Given the description of an element on the screen output the (x, y) to click on. 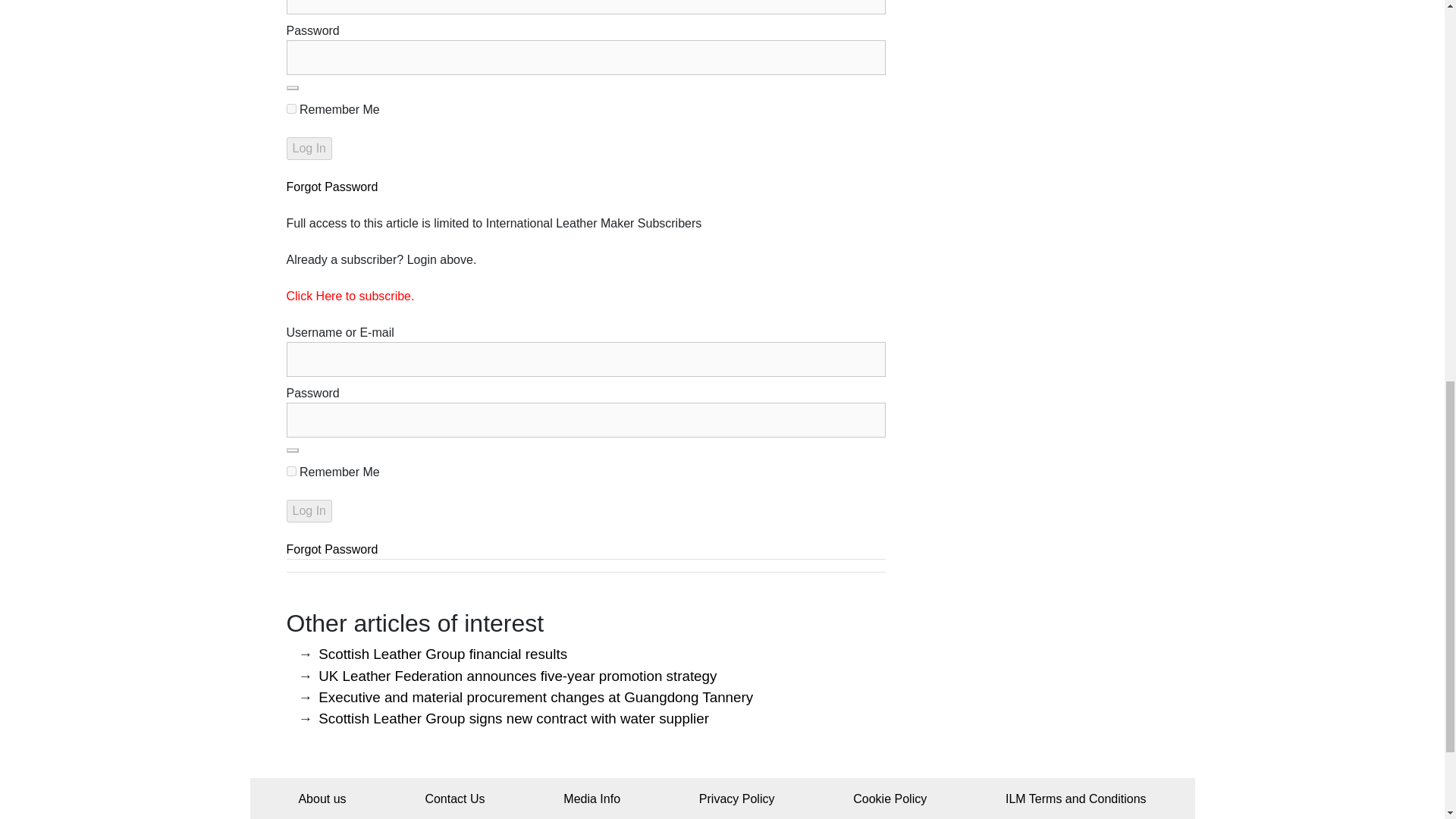
About us (322, 798)
Contact Us (454, 798)
Privacy Policy (736, 798)
Click Here to subscribe. (350, 295)
forever (291, 470)
Log In (308, 148)
Log In (308, 510)
Scottish Leather Group financial results (442, 653)
UK Leather Federation announces five-year promotion strategy (517, 675)
Media Info (591, 798)
Forgot Password (332, 186)
Log In (308, 148)
forever (291, 108)
